Given the description of an element on the screen output the (x, y) to click on. 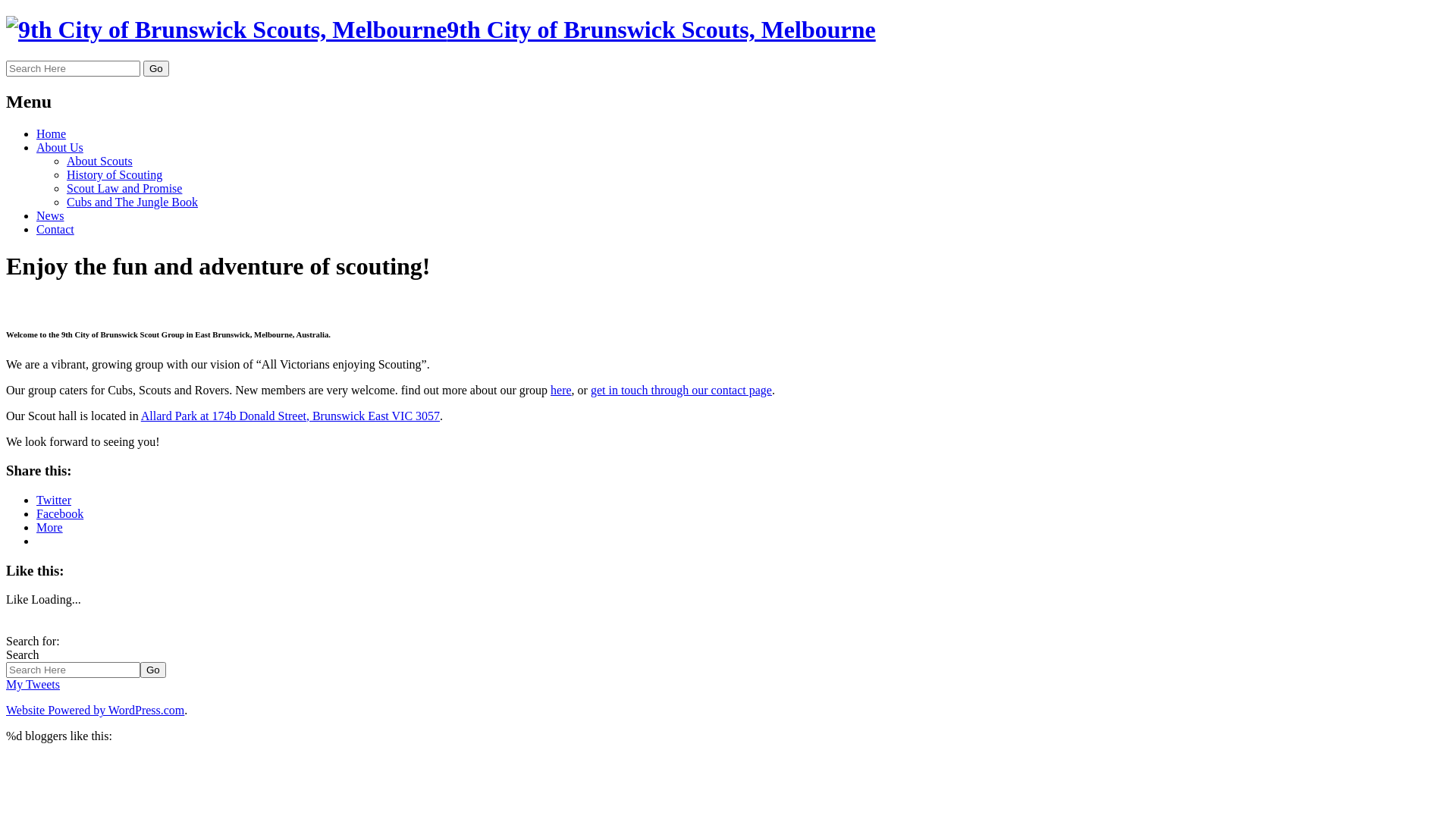
Home Element type: text (50, 133)
Go Element type: text (156, 68)
Cubs and The Jungle Book Element type: text (131, 201)
My Tweets Element type: text (32, 683)
here Element type: text (560, 389)
About Us Element type: text (59, 147)
Go Element type: text (153, 669)
History of Scouting Element type: text (114, 174)
Website Powered by WordPress.com Element type: text (95, 709)
get in touch through our contact page Element type: text (680, 389)
Allard Park at 174b Donald Street, Brunswick East VIC 3057 Element type: text (290, 415)
Contact Element type: text (55, 228)
News Element type: text (49, 215)
Facebook Element type: text (59, 513)
Scout Law and Promise Element type: text (124, 188)
More Element type: text (49, 526)
9th City of Brunswick Scouts, Melbourne Element type: text (440, 29)
About Scouts Element type: text (99, 160)
Twitter Element type: text (53, 499)
Search for: Element type: hover (73, 68)
